Given the description of an element on the screen output the (x, y) to click on. 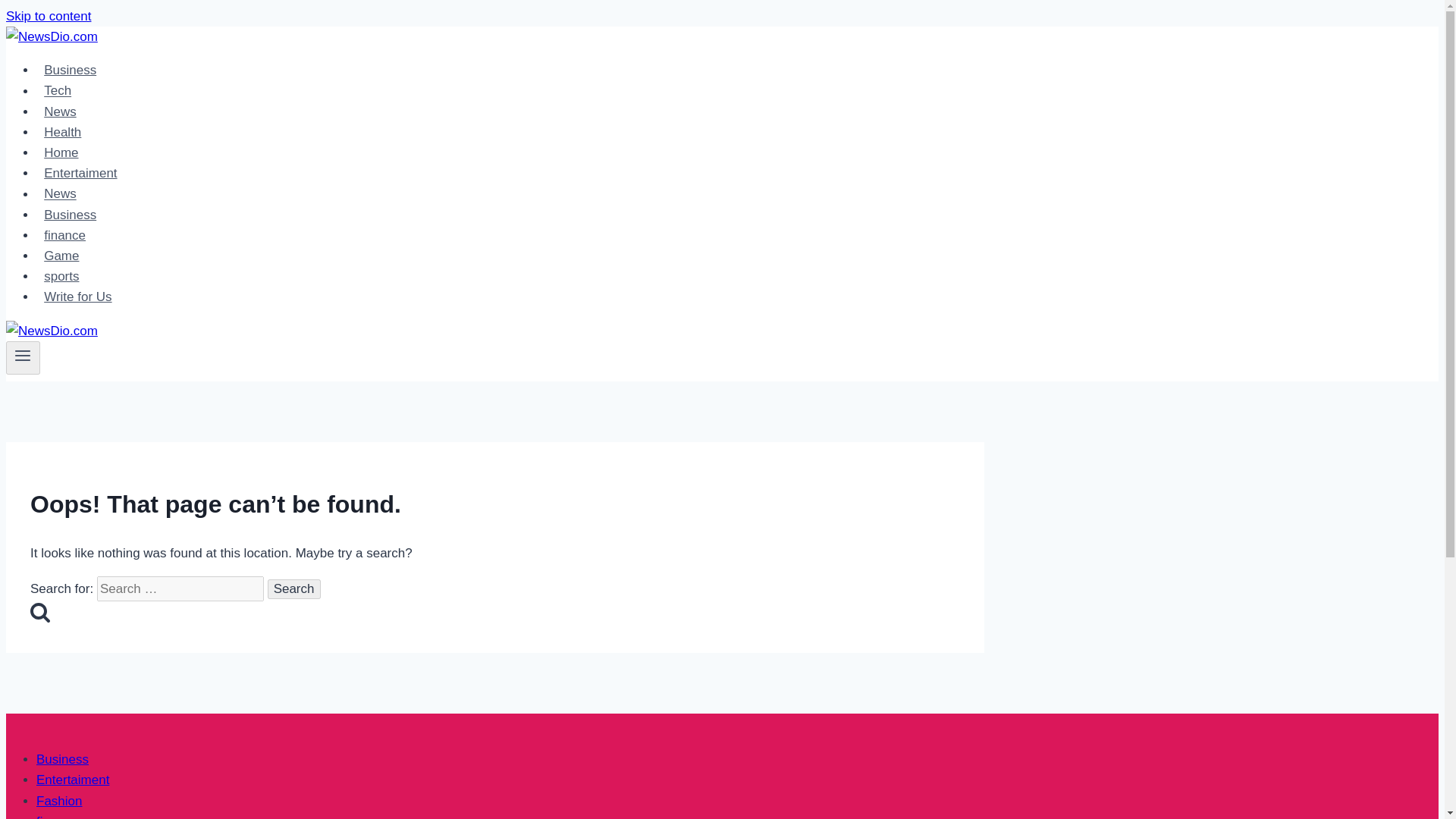
Business (69, 214)
sports (61, 276)
Entertaiment (72, 780)
Game (61, 255)
finance (57, 816)
Tech (57, 90)
finance (64, 235)
News (60, 193)
Search (293, 588)
Fashion (58, 800)
